Given the description of an element on the screen output the (x, y) to click on. 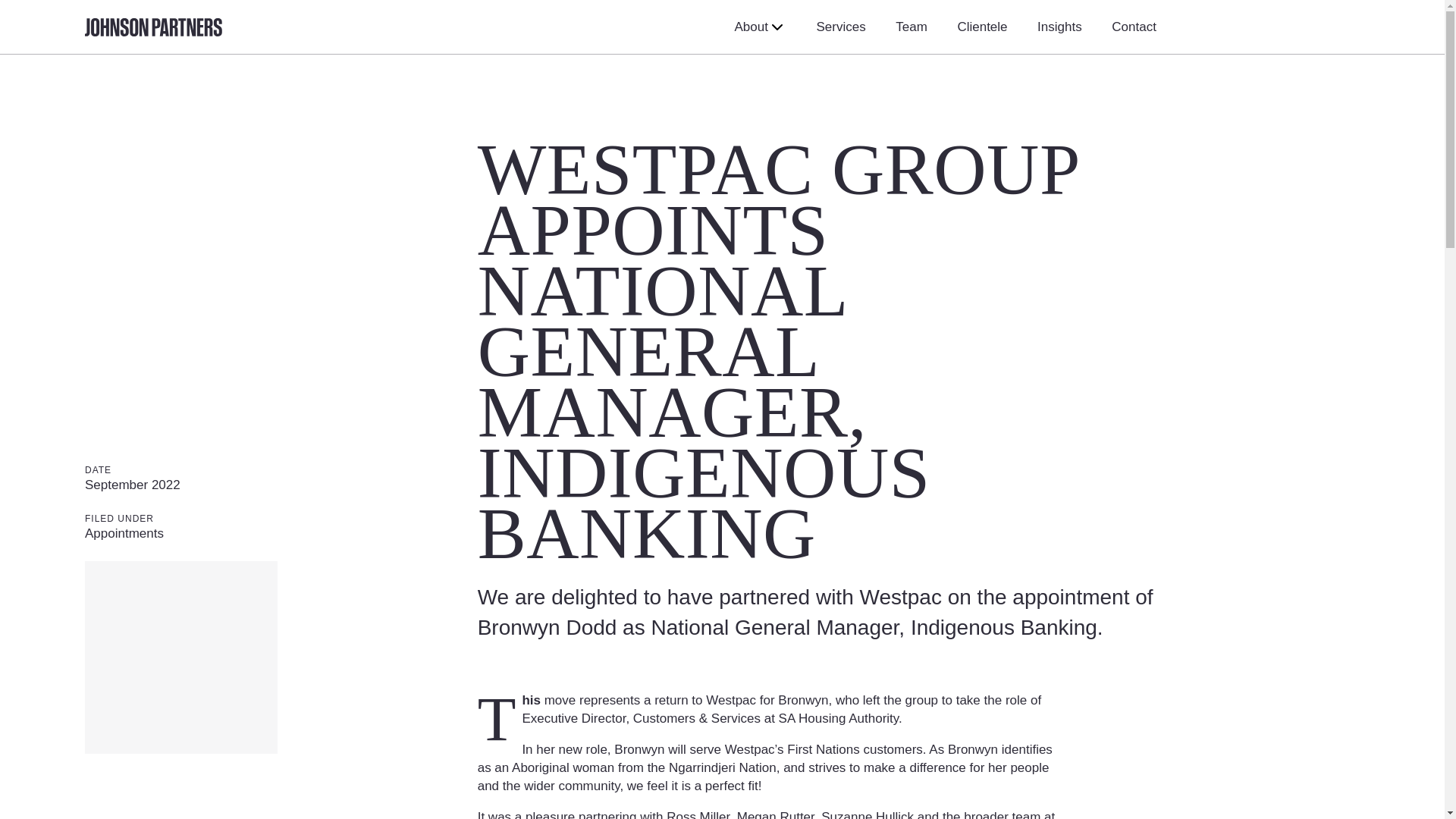
Clientele (981, 27)
Team (911, 27)
Appointments (123, 533)
Subscribe (809, 474)
Insights (1058, 27)
About (759, 27)
Website Credits (791, 792)
Contact (1134, 27)
Services (839, 27)
